Given the description of an element on the screen output the (x, y) to click on. 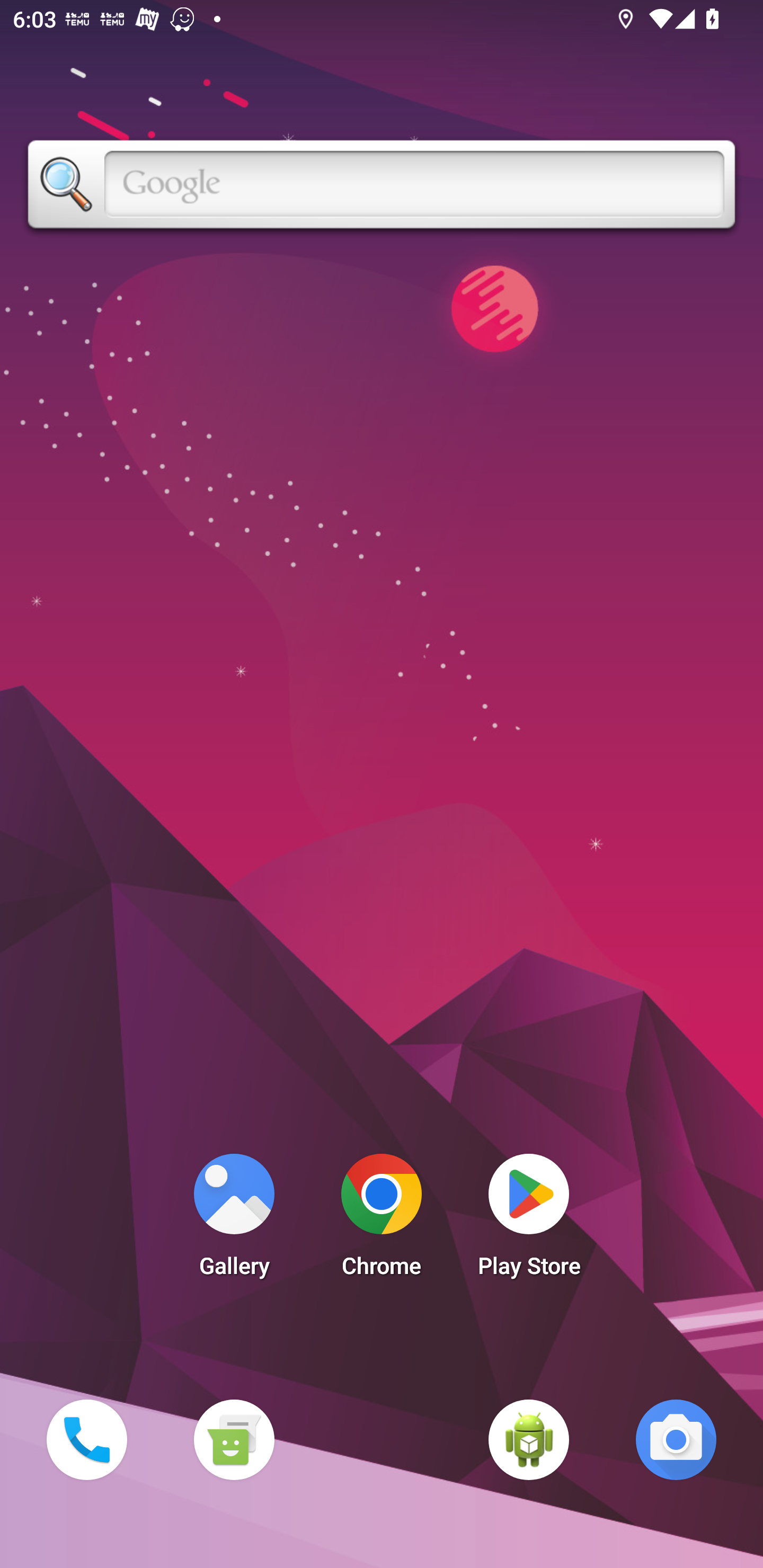
Gallery (233, 1220)
Chrome (381, 1220)
Play Store (528, 1220)
Phone (86, 1439)
Messaging (233, 1439)
WebView Browser Tester (528, 1439)
Camera (676, 1439)
